Given the description of an element on the screen output the (x, y) to click on. 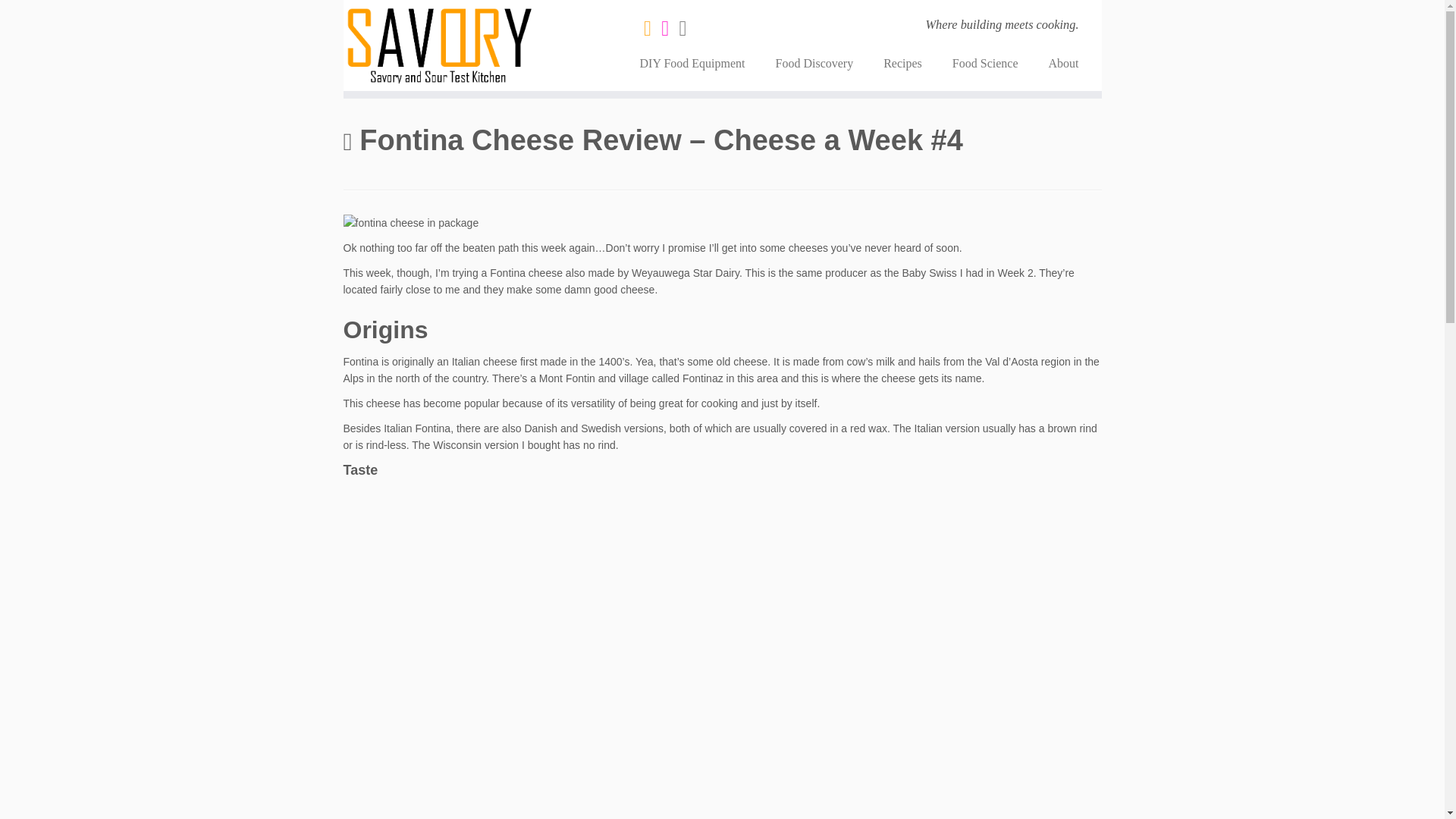
Food Discovery (814, 62)
DIY Food Equipment (692, 62)
Food Science (985, 62)
Recipes (902, 62)
About (1055, 62)
